Given the description of an element on the screen output the (x, y) to click on. 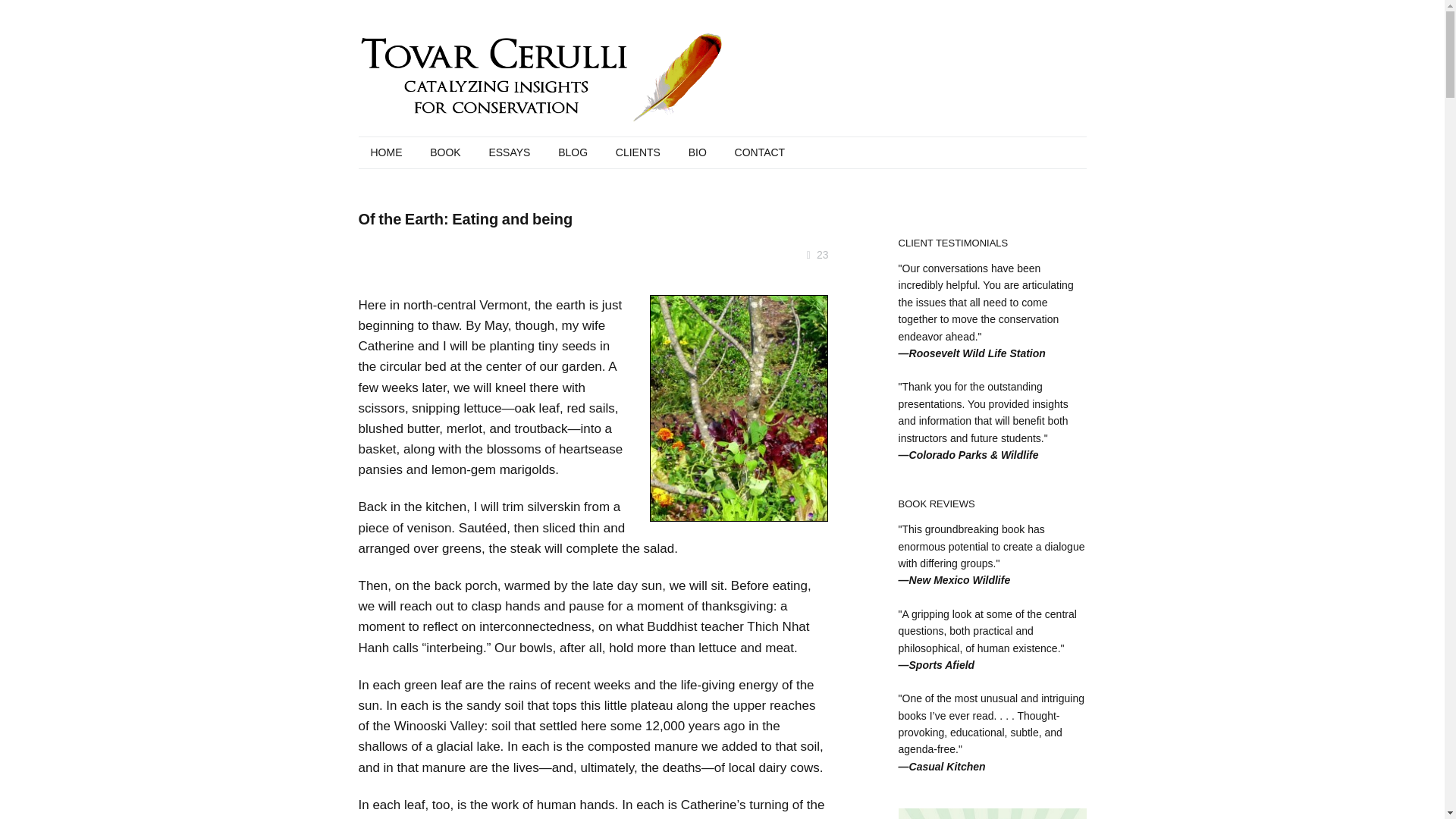
HOME (385, 152)
CLIENTS (638, 152)
BOOK (444, 152)
23 (822, 254)
BLOG (572, 152)
BIO (698, 152)
CONTACT (759, 152)
ESSAYS (508, 152)
